Given the description of an element on the screen output the (x, y) to click on. 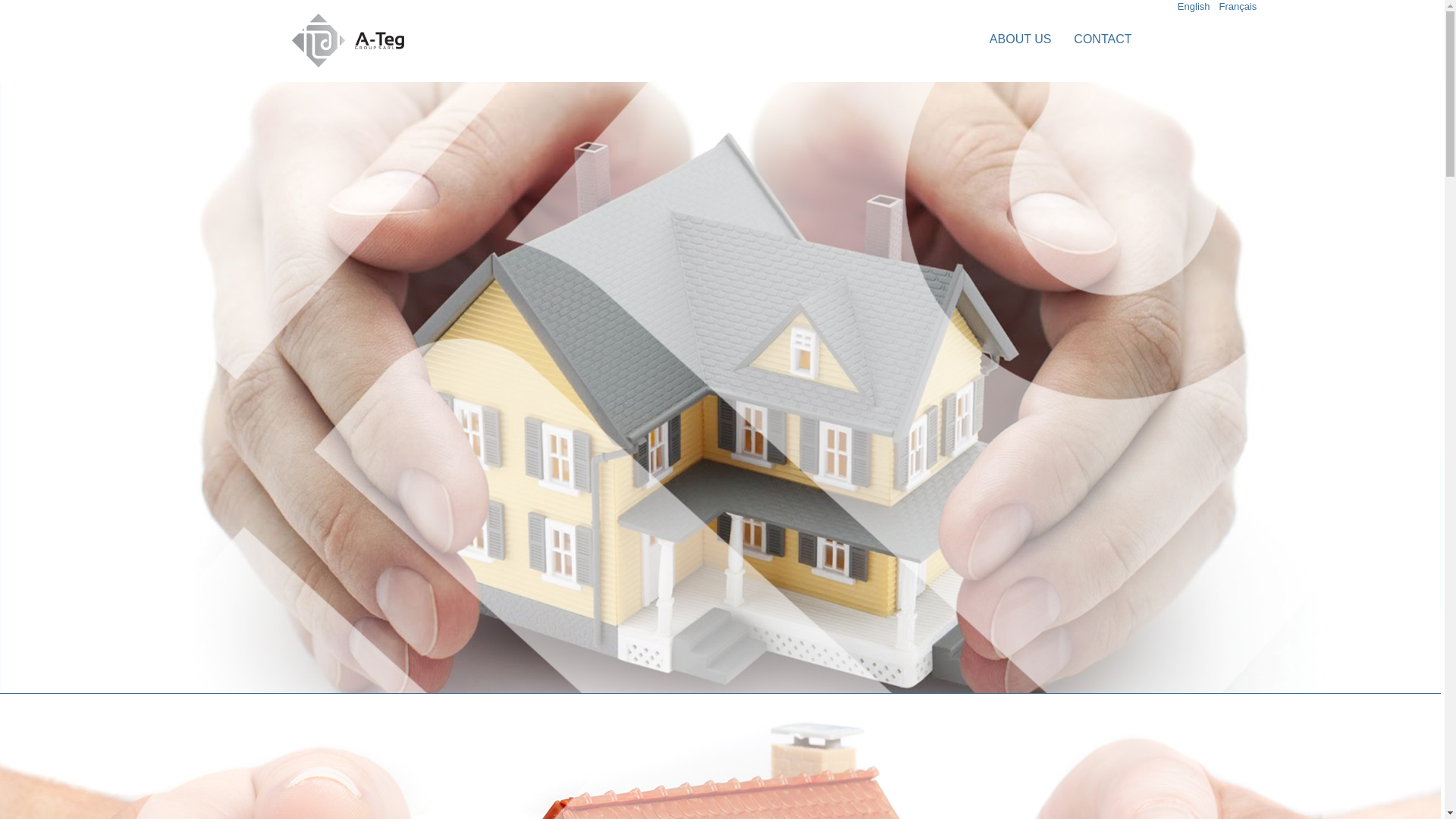
CONTACT Element type: text (1102, 39)
ABOUT US Element type: text (1020, 39)
English Element type: text (1193, 6)
